Given the description of an element on the screen output the (x, y) to click on. 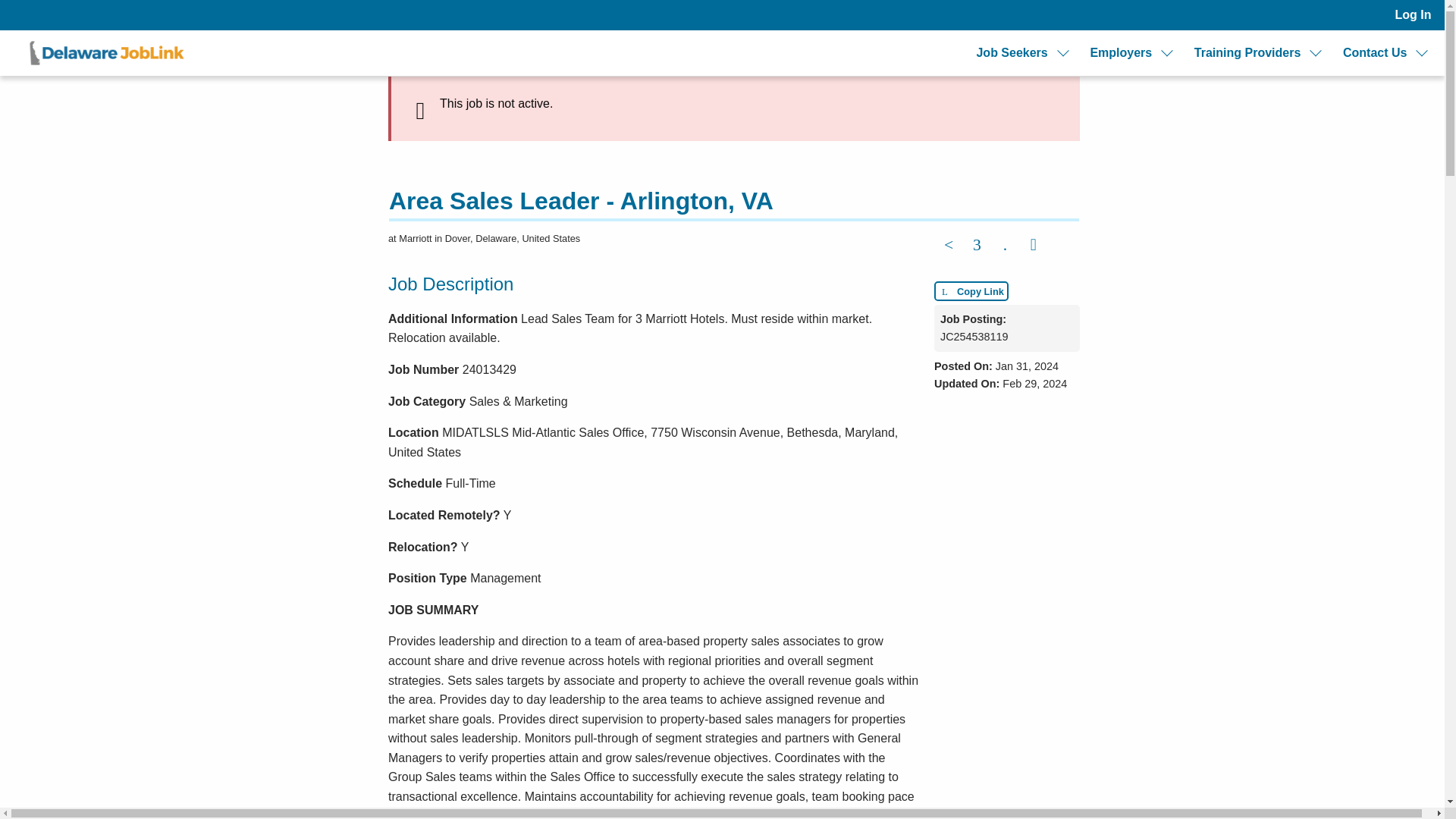
Employers (1120, 53)
Job Seekers (1010, 53)
Share this Job on LinkedIn (1004, 245)
Training Providers (1246, 53)
Email this Job (1033, 245)
Copy Link (971, 291)
Share this Job on Facebook (948, 245)
Share this Job on Twitter (976, 245)
Log In (1412, 15)
Contact Us (1374, 53)
